Given the description of an element on the screen output the (x, y) to click on. 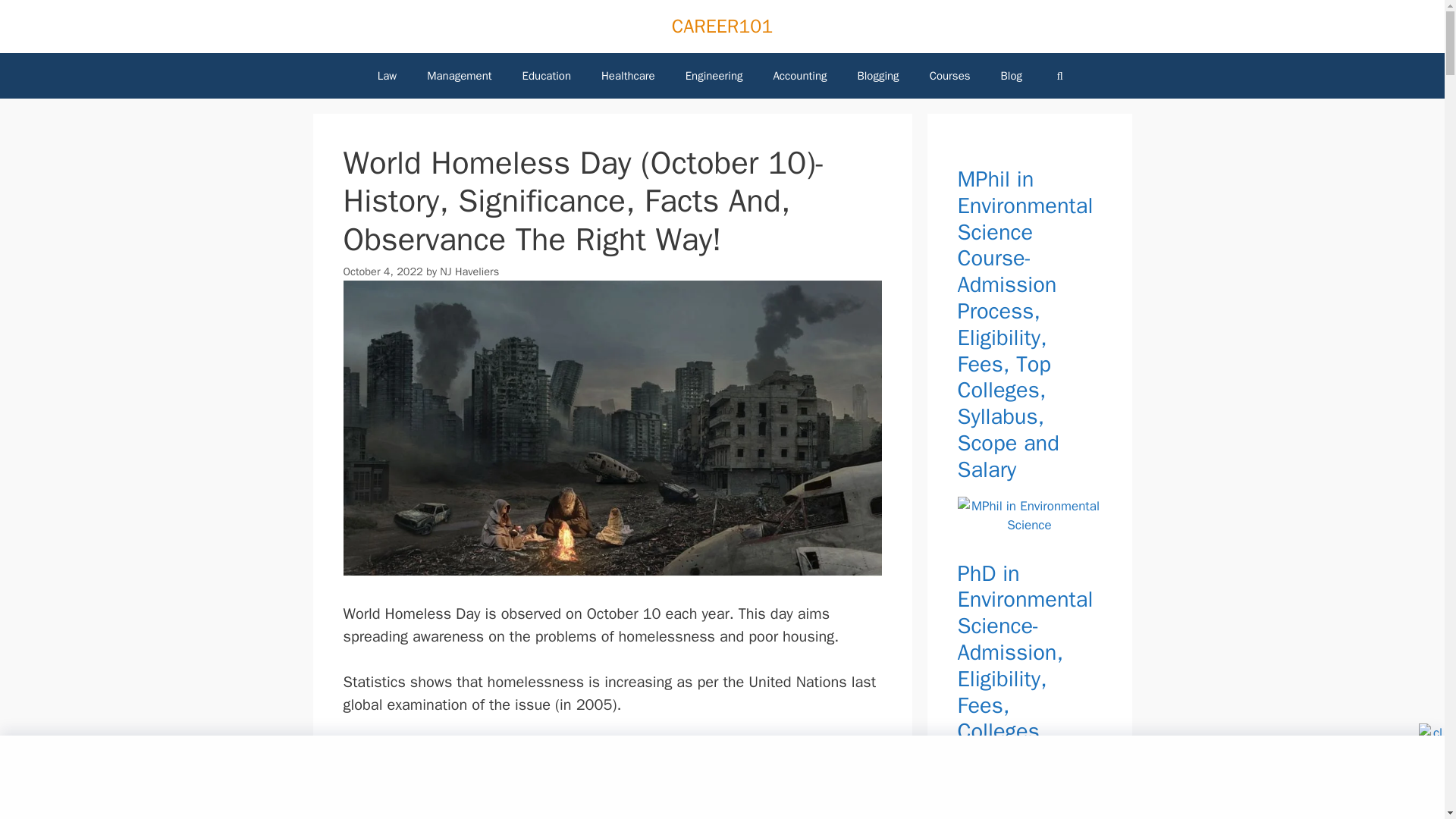
Engineering (713, 75)
Blogging (877, 75)
Law (387, 75)
Blog (1010, 75)
CAREER101 (722, 25)
Accounting (799, 75)
View all posts by NJ Haveliers (469, 271)
Courses (949, 75)
Management (459, 75)
Healthcare (627, 75)
Education (546, 75)
NJ Haveliers (469, 271)
